Given the description of an element on the screen output the (x, y) to click on. 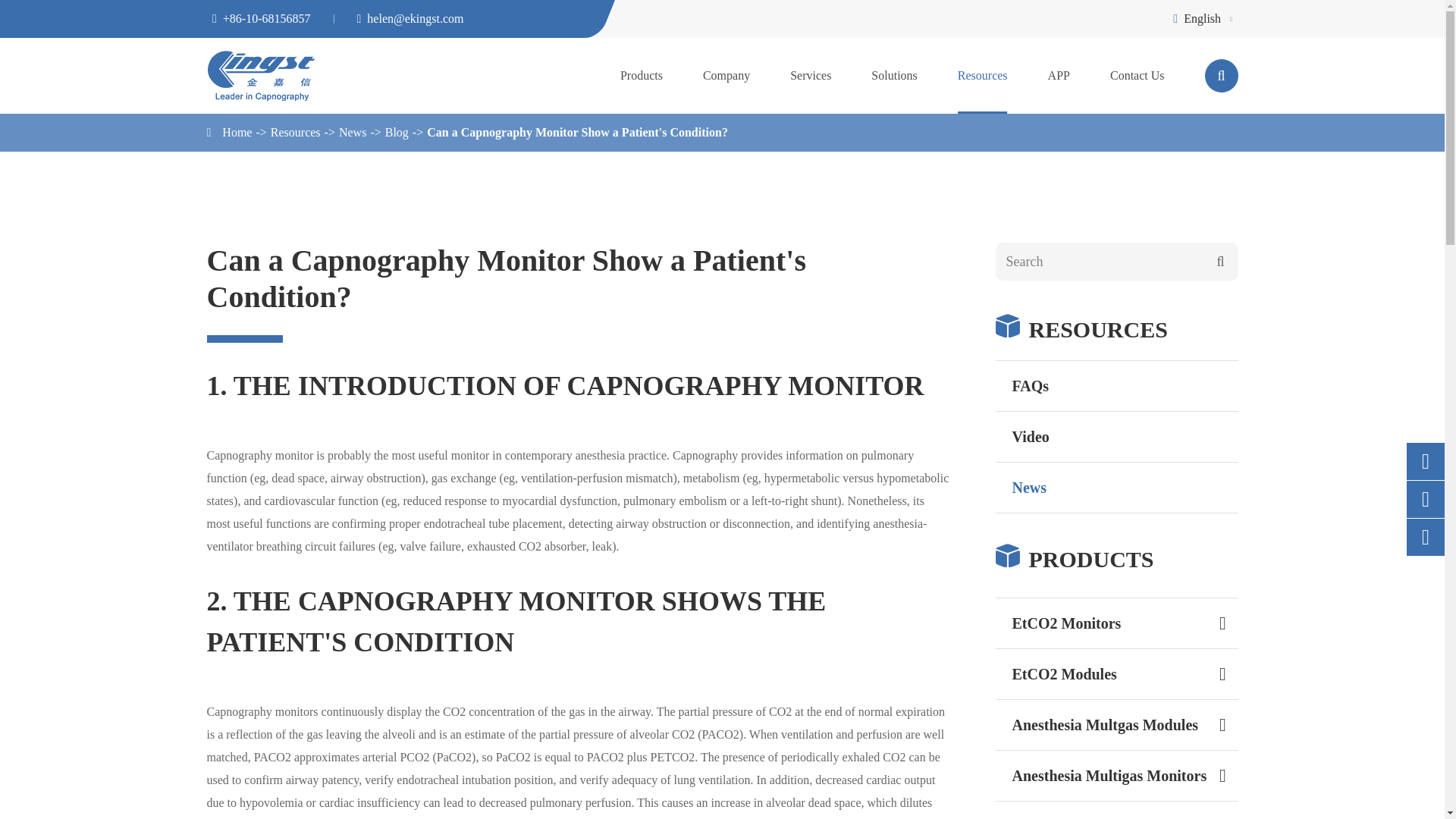
News (352, 132)
Products (1006, 555)
Blog (397, 132)
Can a Capnography Monitor Show a Patient's Condition? (577, 132)
Resources (1006, 325)
Resources (295, 132)
